Given the description of an element on the screen output the (x, y) to click on. 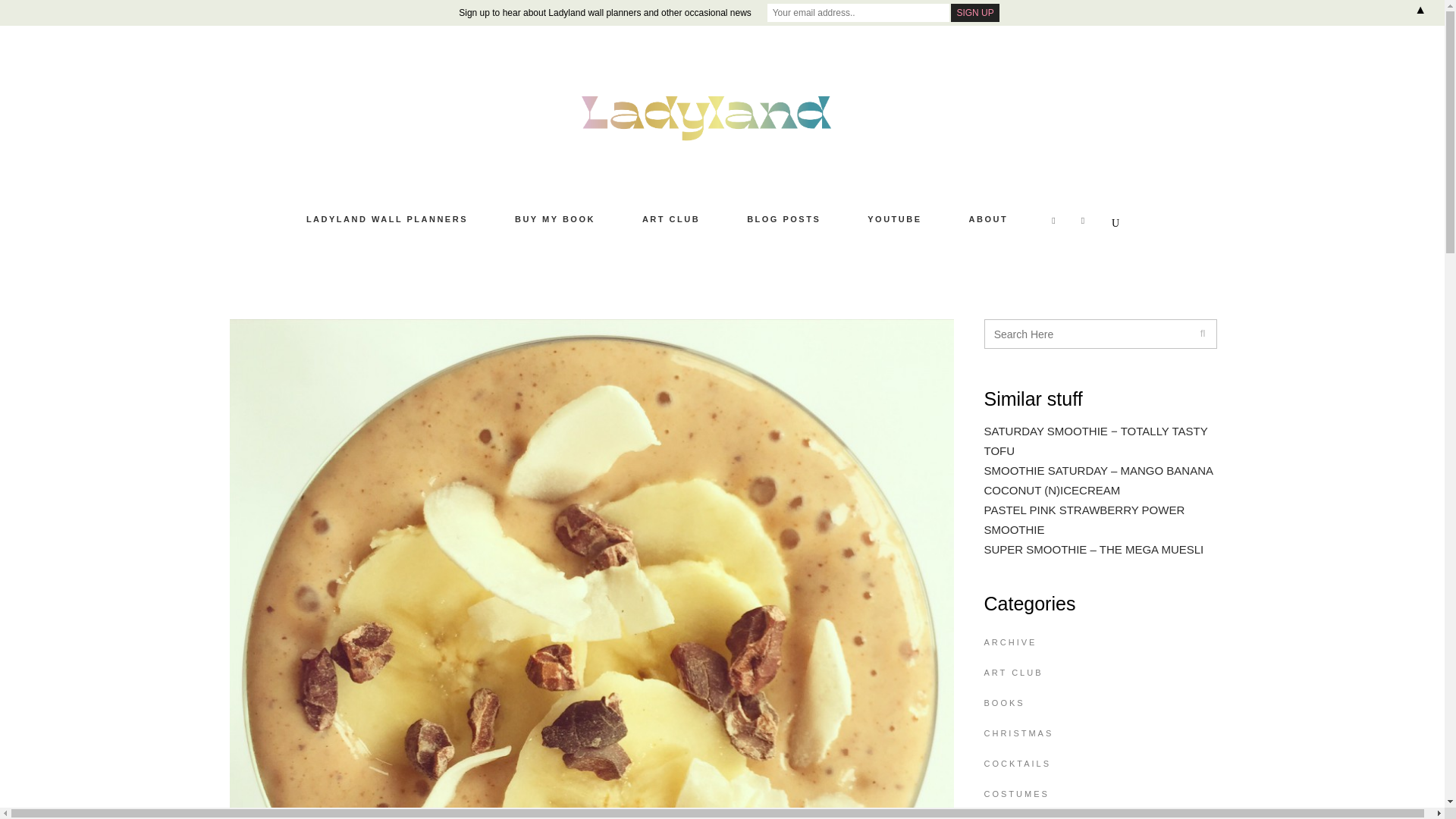
SIGN UP (974, 13)
BUY MY BOOK (555, 219)
LADYLAND WALL PLANNERS (387, 219)
ART CLUB (670, 219)
BLOG POSTS (783, 219)
YOUTUBE (894, 219)
